Given the description of an element on the screen output the (x, y) to click on. 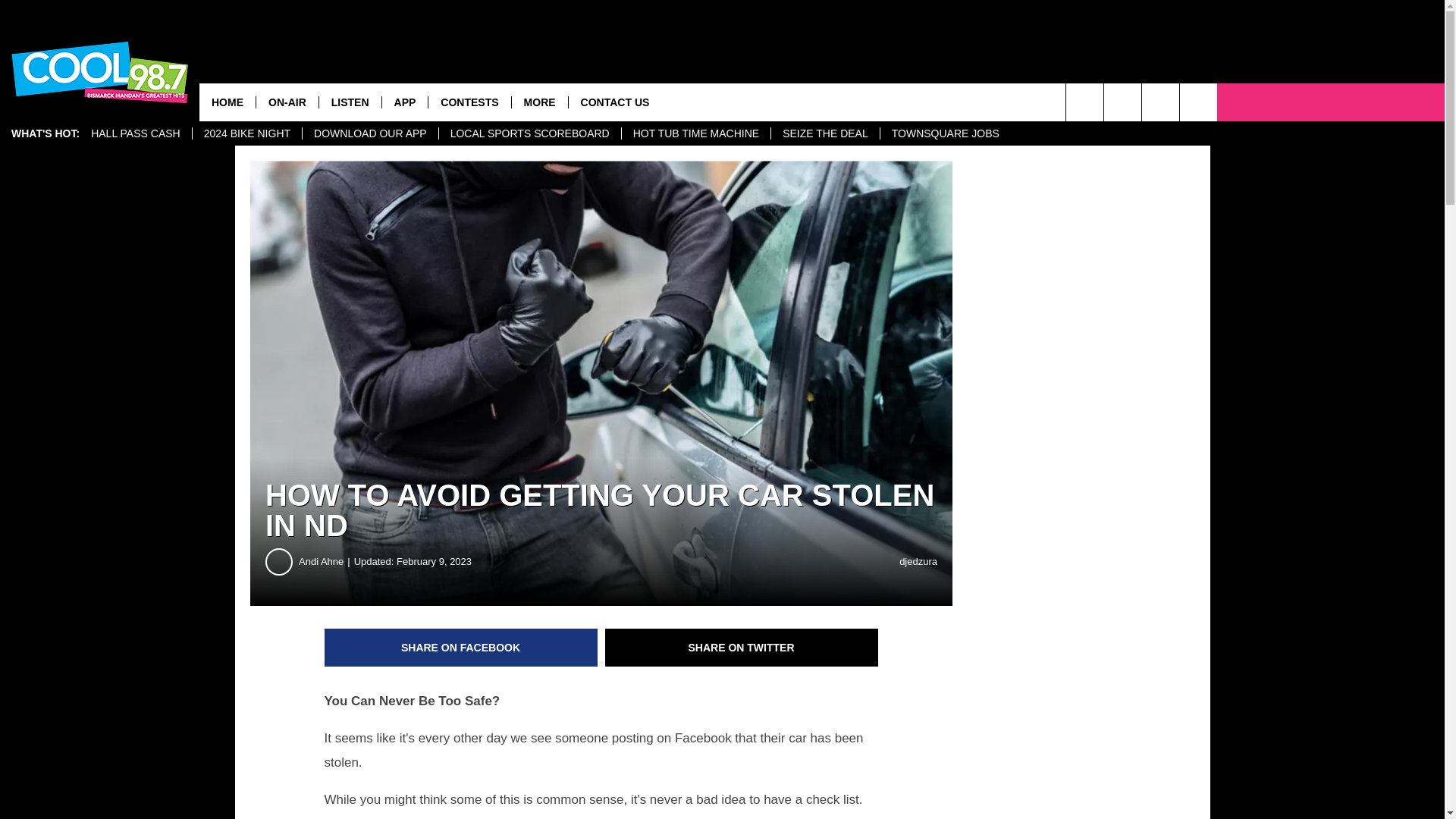
Share on Facebook (460, 647)
CONTACT US (614, 102)
ON-AIR (287, 102)
LISTEN (349, 102)
DOWNLOAD OUR APP (369, 133)
CONTESTS (469, 102)
TOWNSQUARE JOBS (944, 133)
SEIZE THE DEAL (824, 133)
HALL PASS CASH (136, 133)
HOT TUB TIME MACHINE (695, 133)
APP (404, 102)
MORE (539, 102)
Share on Twitter (741, 647)
HOME (227, 102)
2024 BIKE NIGHT (246, 133)
